Given the description of an element on the screen output the (x, y) to click on. 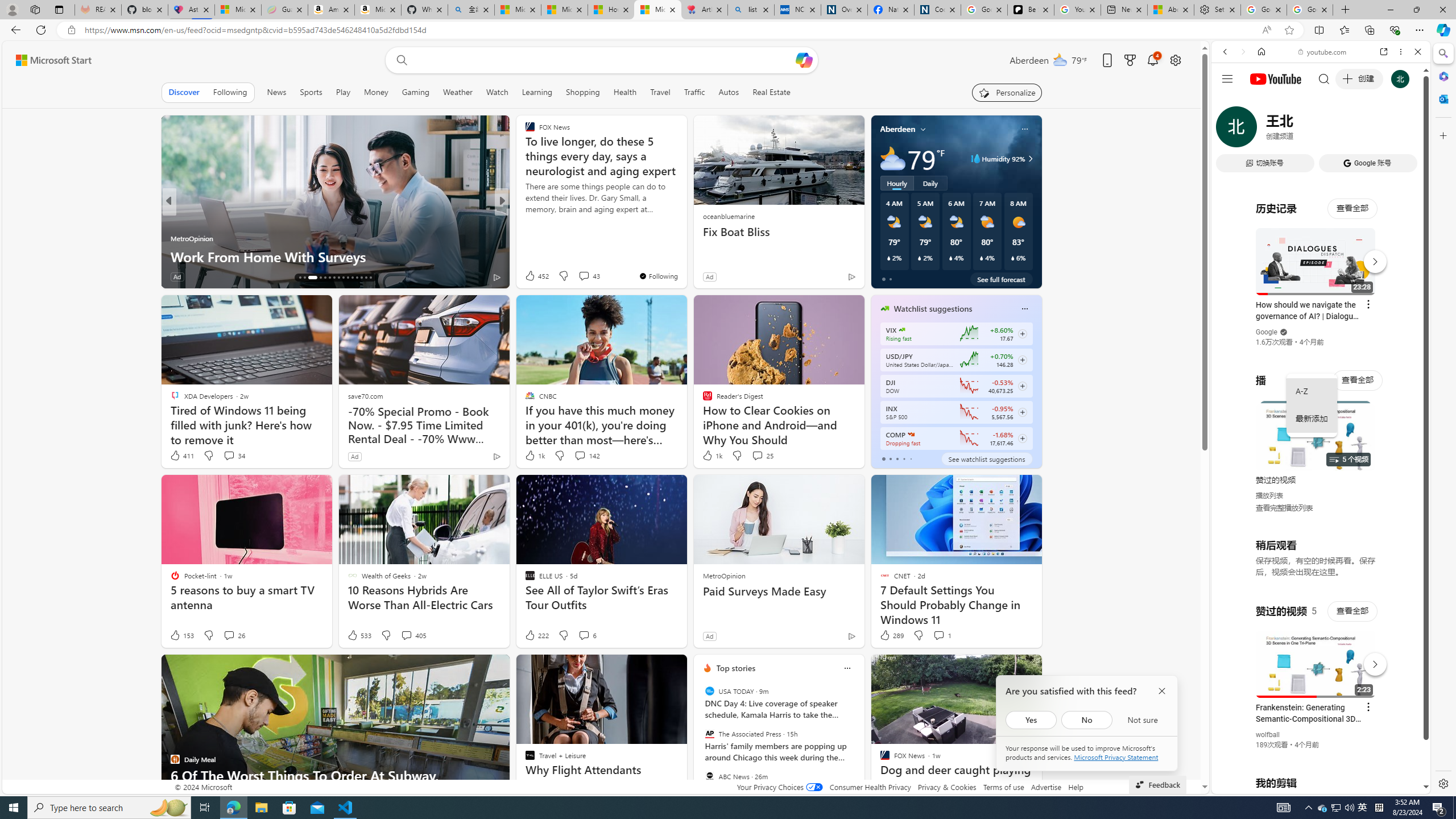
Search Filter, VIDEOS (1300, 129)
2k Like (530, 276)
SlashGear (524, 238)
Not sure (1141, 719)
AutomationID: tab-30 (370, 277)
Trailer #2 [HD] (1320, 336)
Class: dict_pnIcon rms_img (1312, 784)
8 Like (529, 276)
NASDAQ (910, 434)
Play (342, 92)
